Given the description of an element on the screen output the (x, y) to click on. 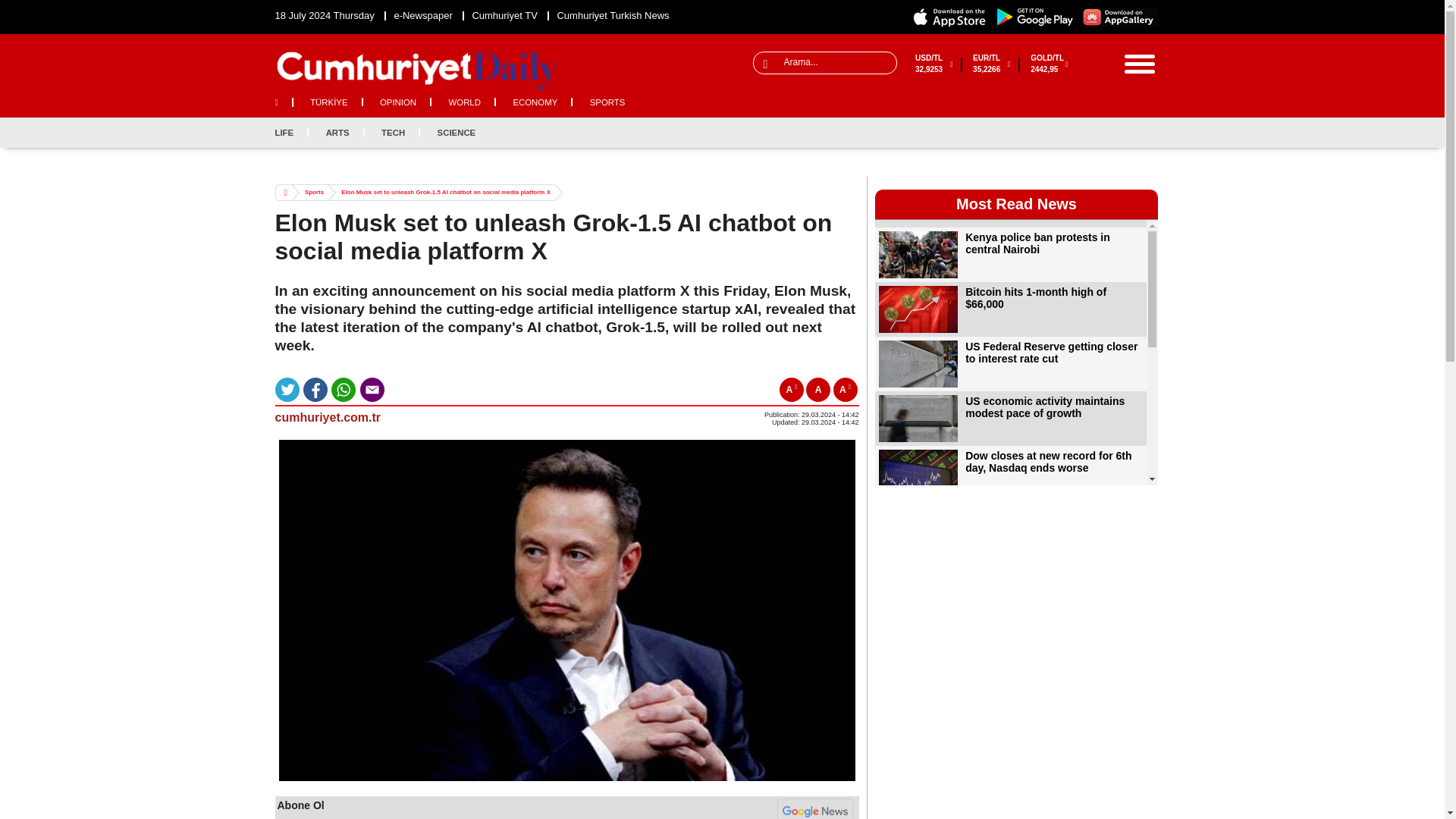
Cumhuriyet Daily - Turkish News (612, 15)
SCIENCE (449, 132)
E-Gazete (422, 15)
OPINION (397, 102)
Cumhuriyet Newspaper iOS Mobile App (949, 16)
Go (13, 9)
Cumhuriyet Newspaper Huawei Mobile App (1119, 16)
Cumhuriyet Newspaper Huawei Mobile App (1119, 16)
WORLD (465, 102)
TECH (393, 132)
ECONOMY (534, 102)
Cumhuriyet Newspaper iOS Mobile App (949, 16)
Cumhuriyet Turkish News (612, 15)
SPORTS (601, 102)
Instagram (1120, 132)
